Given the description of an element on the screen output the (x, y) to click on. 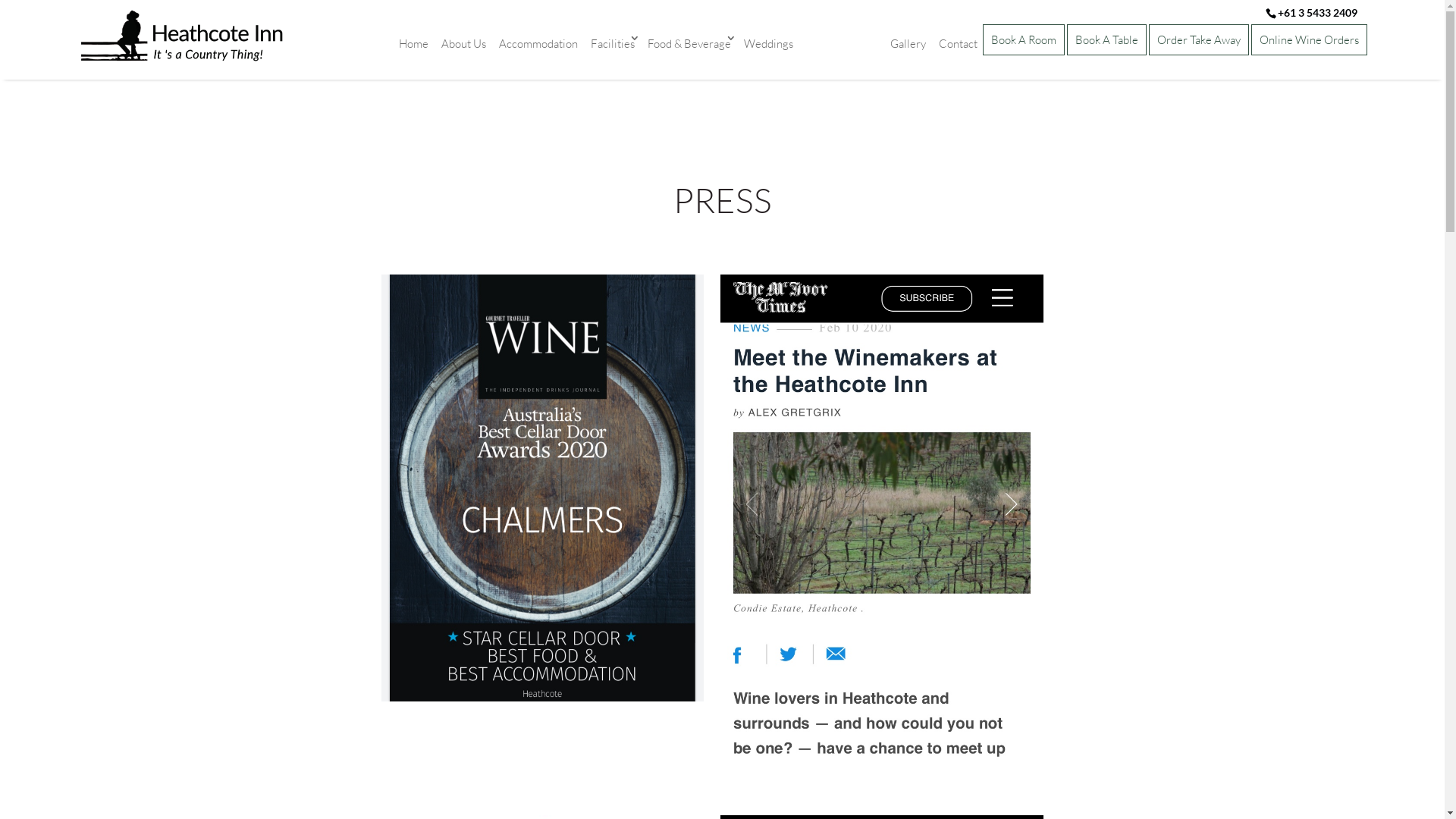
Book A Room Element type: text (1023, 39)
Events & Press Element type: text (841, 43)
Weddings Element type: text (768, 43)
About Us Element type: text (462, 43)
Gallery Element type: text (907, 43)
Food & Beverage Element type: text (688, 43)
Contact Element type: text (957, 43)
Accommodation Element type: text (537, 43)
Facilities Element type: text (612, 43)
Order Take Away Element type: text (1198, 39)
Online Wine Orders Element type: text (1309, 39)
+61 3 5433 2409 Element type: text (1316, 12)
Home Element type: text (412, 43)
Book A Table Element type: text (1105, 39)
